Given the description of an element on the screen output the (x, y) to click on. 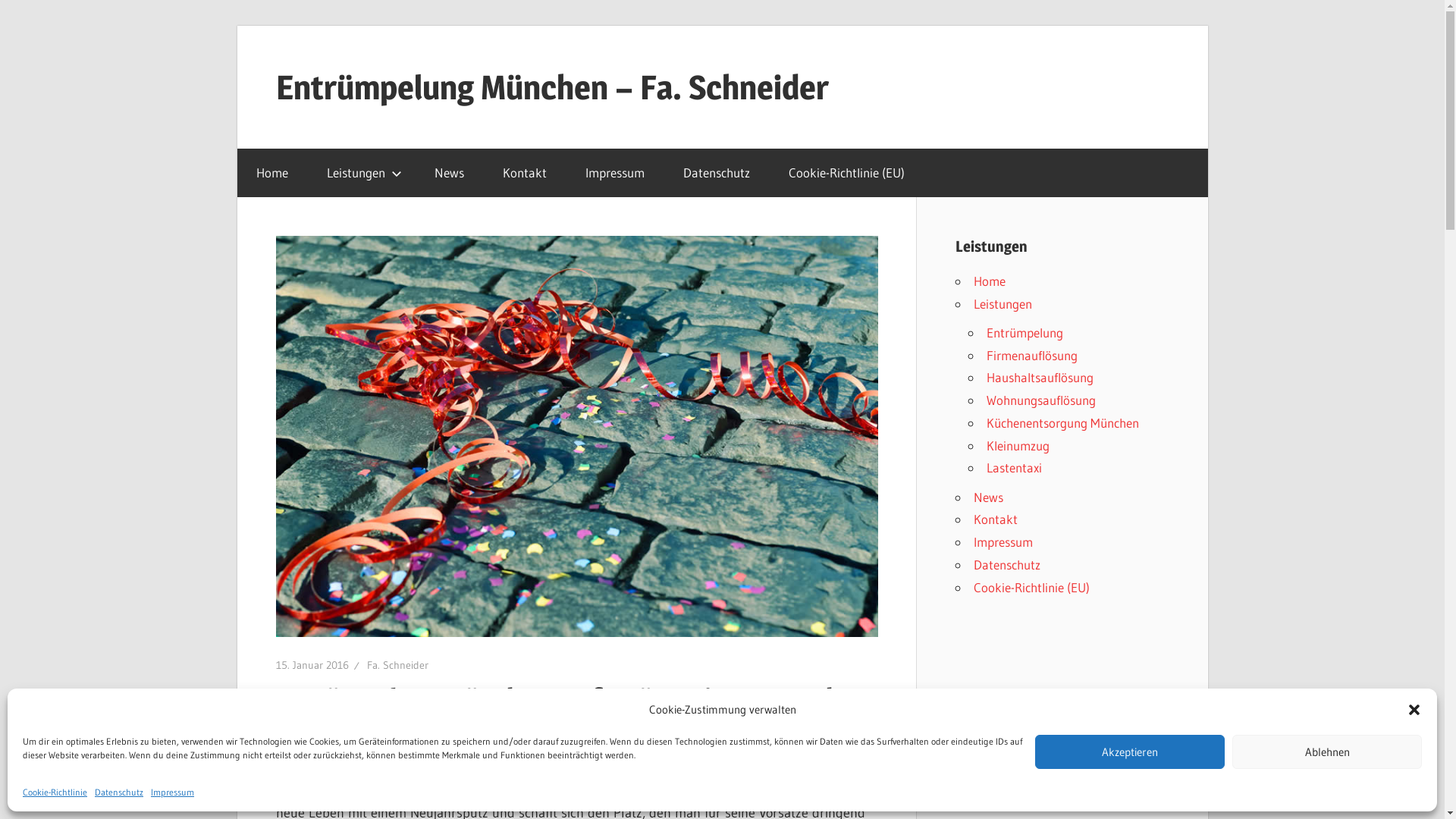
Home Element type: text (271, 172)
Lastentaxi Element type: text (1013, 467)
News Element type: text (449, 172)
Impressum Element type: text (614, 172)
Leistungen Element type: text (361, 172)
Datenschutz Element type: text (1006, 564)
Cookie-Richtlinie (EU) Element type: text (845, 172)
Kontakt Element type: text (524, 172)
Datenschutz Element type: text (118, 792)
Ablehnen Element type: text (1326, 751)
Impressum Element type: text (1002, 541)
Fa. Schneider Element type: text (397, 664)
Cookie-Richtlinie Element type: text (54, 792)
Zum Inhalt springen Element type: text (236, 25)
Akzeptieren Element type: text (1129, 751)
News Element type: text (988, 496)
Home Element type: text (989, 280)
Cookie-Richtlinie (EU) Element type: text (1031, 587)
15. Januar 2016 Element type: text (312, 664)
Kleinumzug Element type: text (1016, 444)
Leistungen Element type: text (1002, 303)
Impressum Element type: text (172, 792)
Datenschutz Element type: text (716, 172)
Kontakt Element type: text (995, 519)
